Given the description of an element on the screen output the (x, y) to click on. 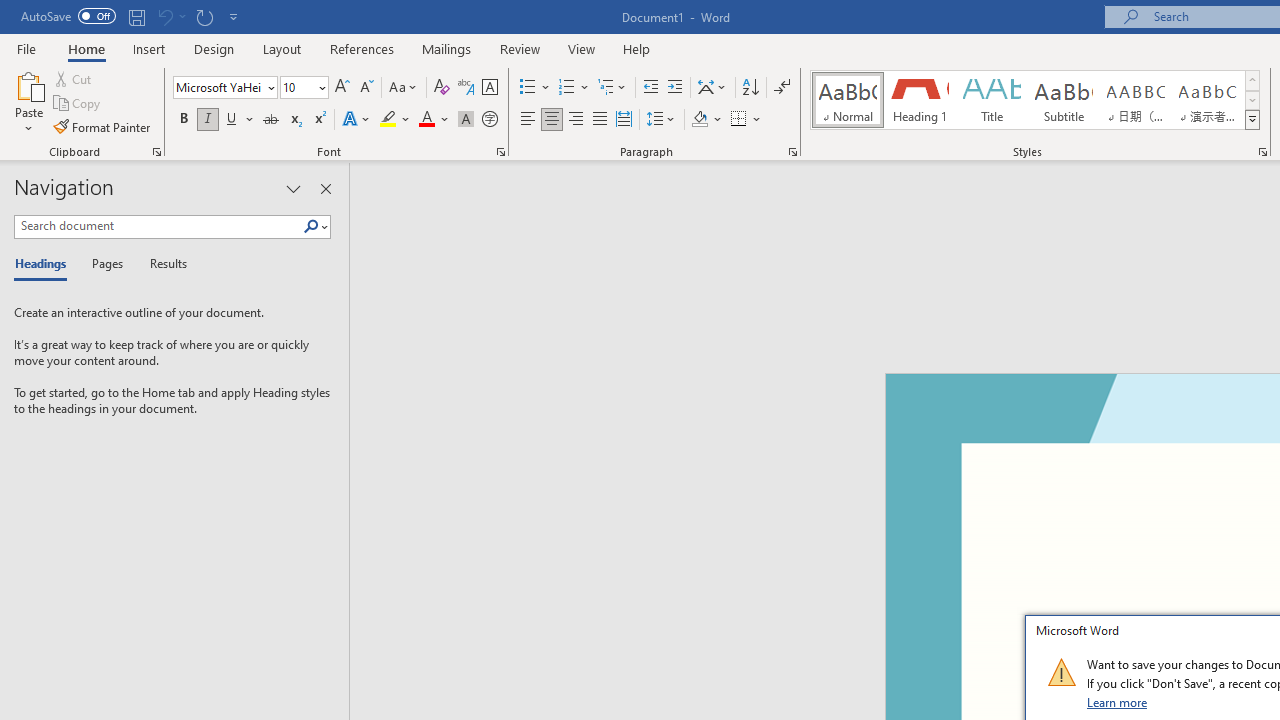
Shading (706, 119)
Shrink Font (365, 87)
Line and Paragraph Spacing (661, 119)
Character Border (489, 87)
AutomationID: QuickStylesGallery (1035, 99)
Can't Undo (170, 15)
Text Effects and Typography (357, 119)
Styles (1252, 120)
